Given the description of an element on the screen output the (x, y) to click on. 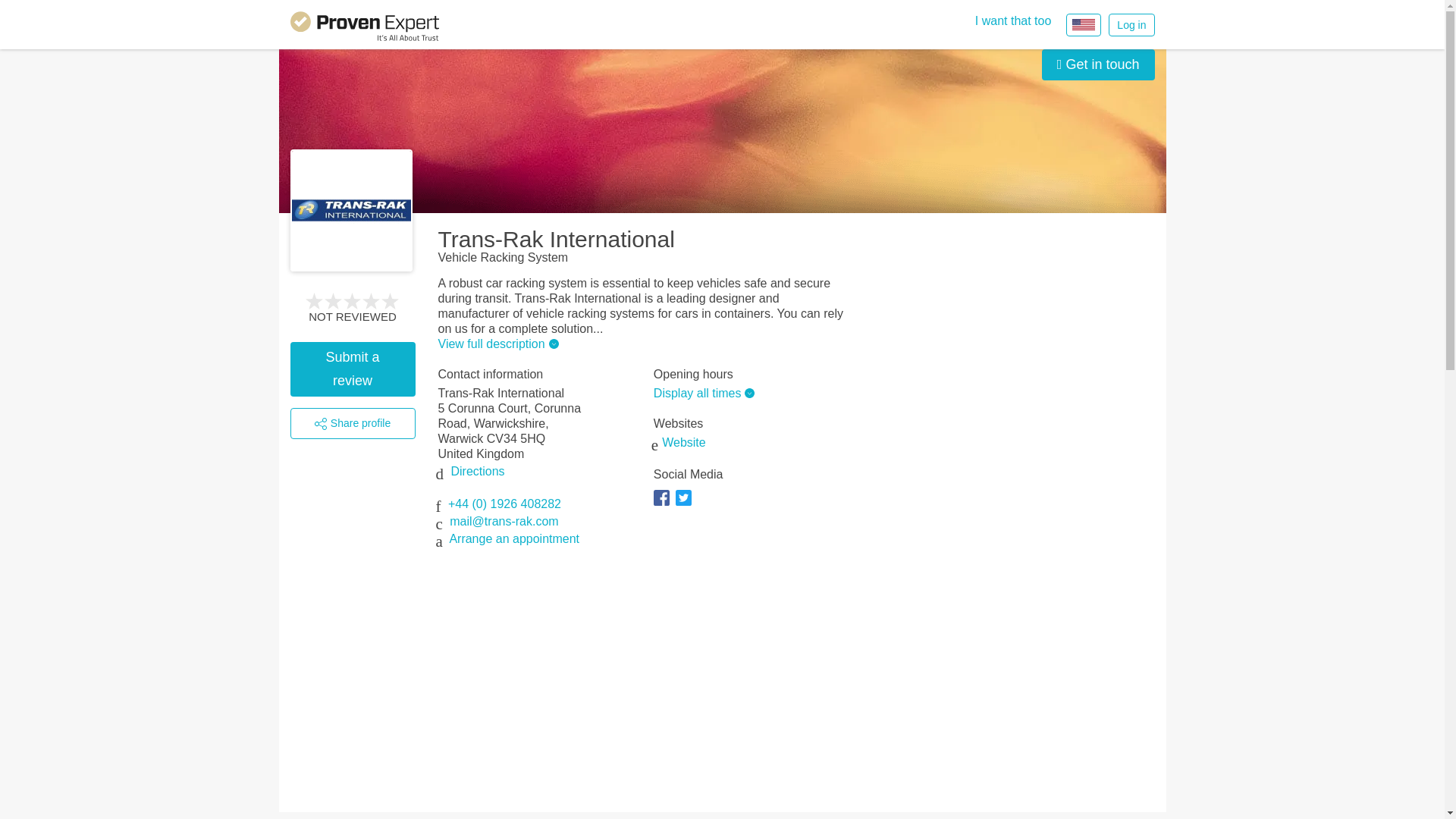
Get in touch (1098, 64)
Share profile (351, 422)
Log in (1131, 24)
I want that too (1013, 20)
Go to ProvenExpert home (363, 28)
Write email to Trans-Rak International (503, 521)
Go to Twitter profile of Trans-Rak International (686, 504)
Send message to Trans-Rak International (1098, 64)
Arrange an appointment (513, 538)
Select your language (1082, 24)
